Given the description of an element on the screen output the (x, y) to click on. 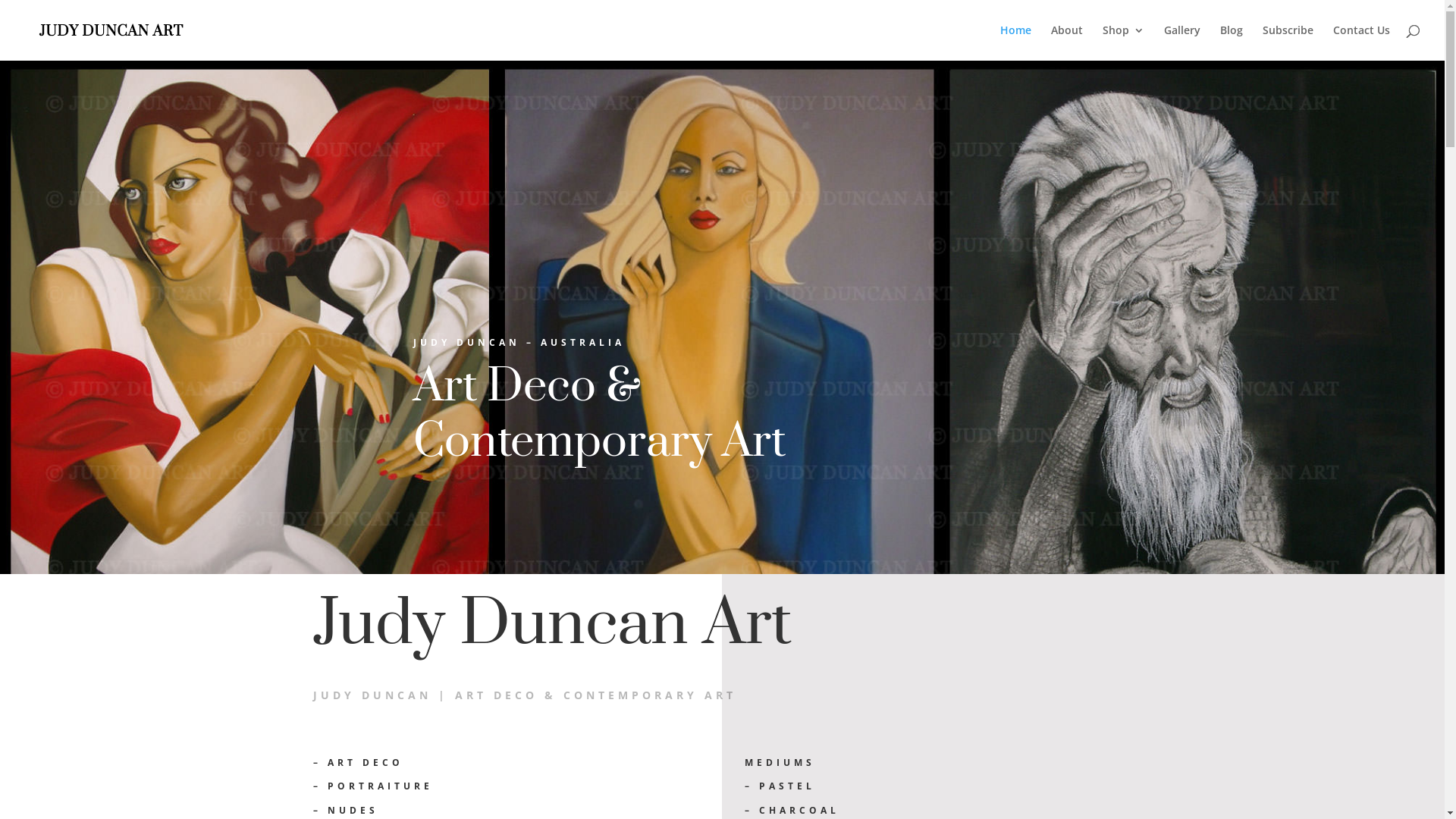
Contact Us Element type: text (1361, 42)
Home Element type: text (1015, 42)
About Element type: text (1066, 42)
Subscribe Element type: text (1287, 42)
Gallery Element type: text (1182, 42)
Blog Element type: text (1231, 42)
Shop Element type: text (1123, 42)
